Given the description of an element on the screen output the (x, y) to click on. 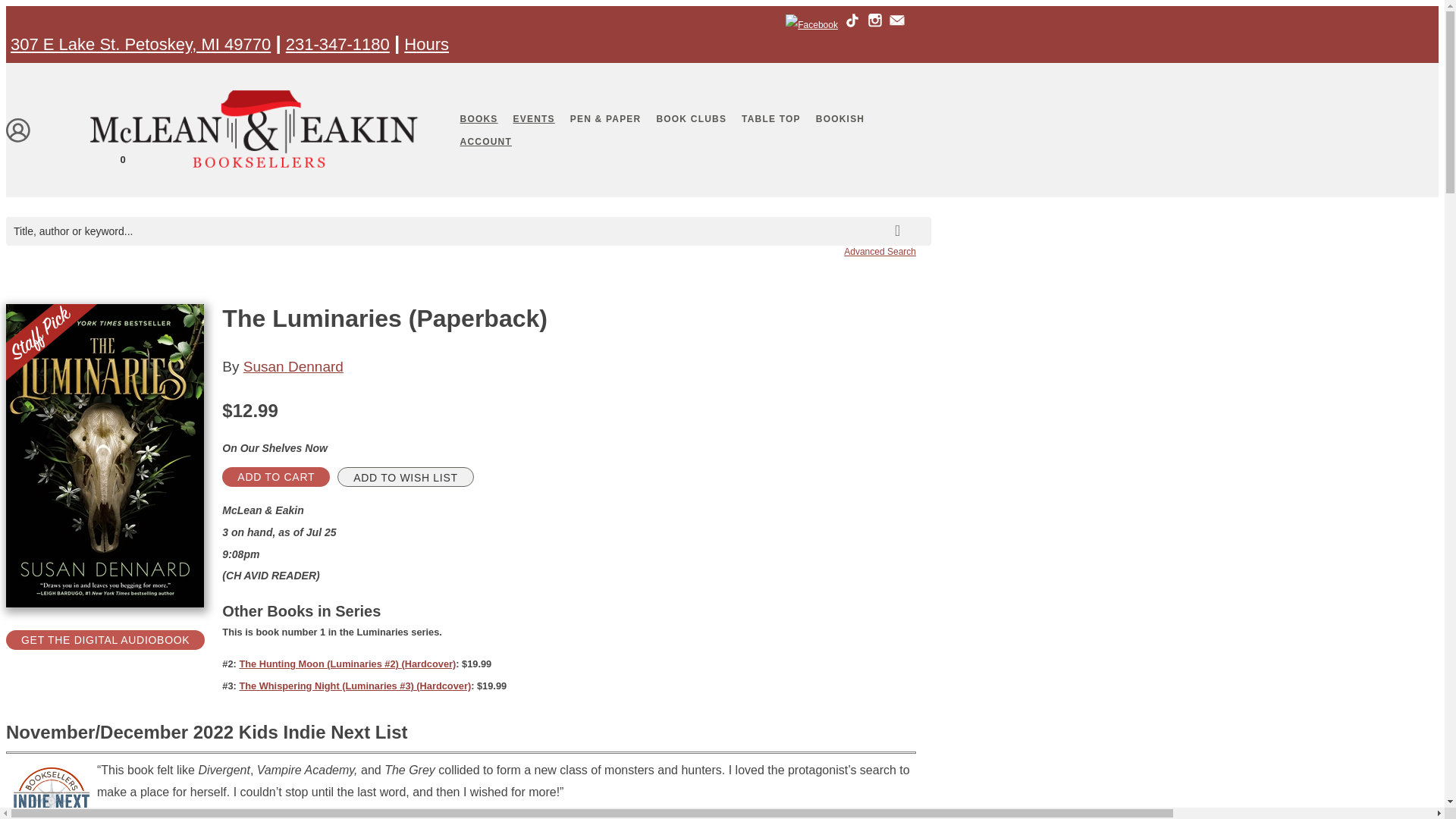
My Account (17, 129)
BOOKISH (840, 118)
TABLE TOP (770, 118)
Get the Digital Audiobook (105, 639)
307 E Lake St. Petoskey, MI 49770 (140, 44)
Home (256, 185)
EVENTS (533, 118)
ours (432, 44)
search (900, 219)
BOOKS (478, 118)
Cart (17, 157)
Title, author or keyword... (468, 231)
BOOK CLUBS (690, 118)
Add to Cart (276, 476)
H (410, 44)
